Given the description of an element on the screen output the (x, y) to click on. 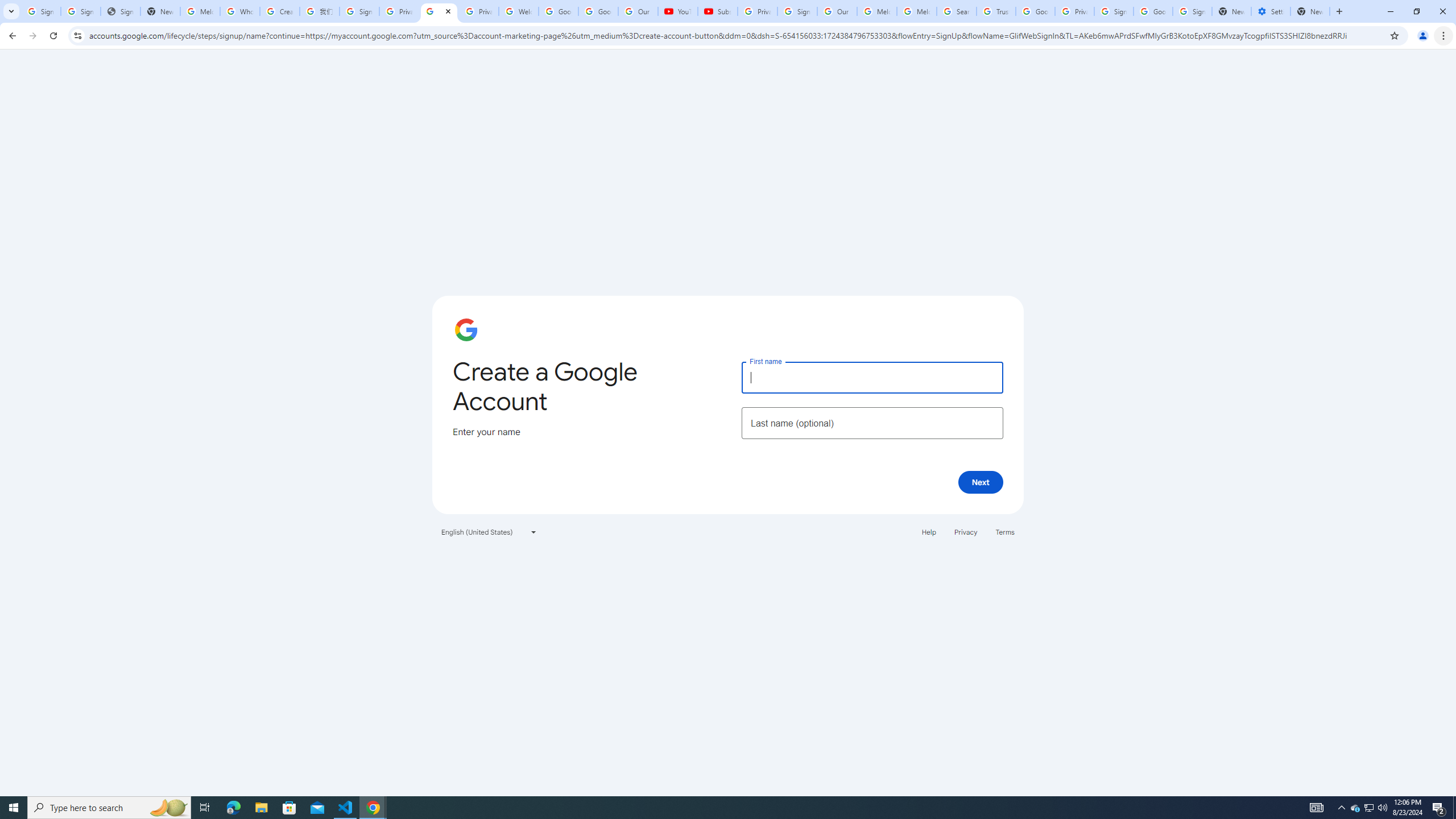
Sign in - Google Accounts (40, 11)
Welcome to My Activity (518, 11)
Next (980, 481)
New Tab (1310, 11)
Google Account (598, 11)
Last name (optional) (871, 422)
Sign In - USA TODAY (120, 11)
Sign in - Google Accounts (80, 11)
Search our Doodle Library Collection - Google Doodles (956, 11)
